Given the description of an element on the screen output the (x, y) to click on. 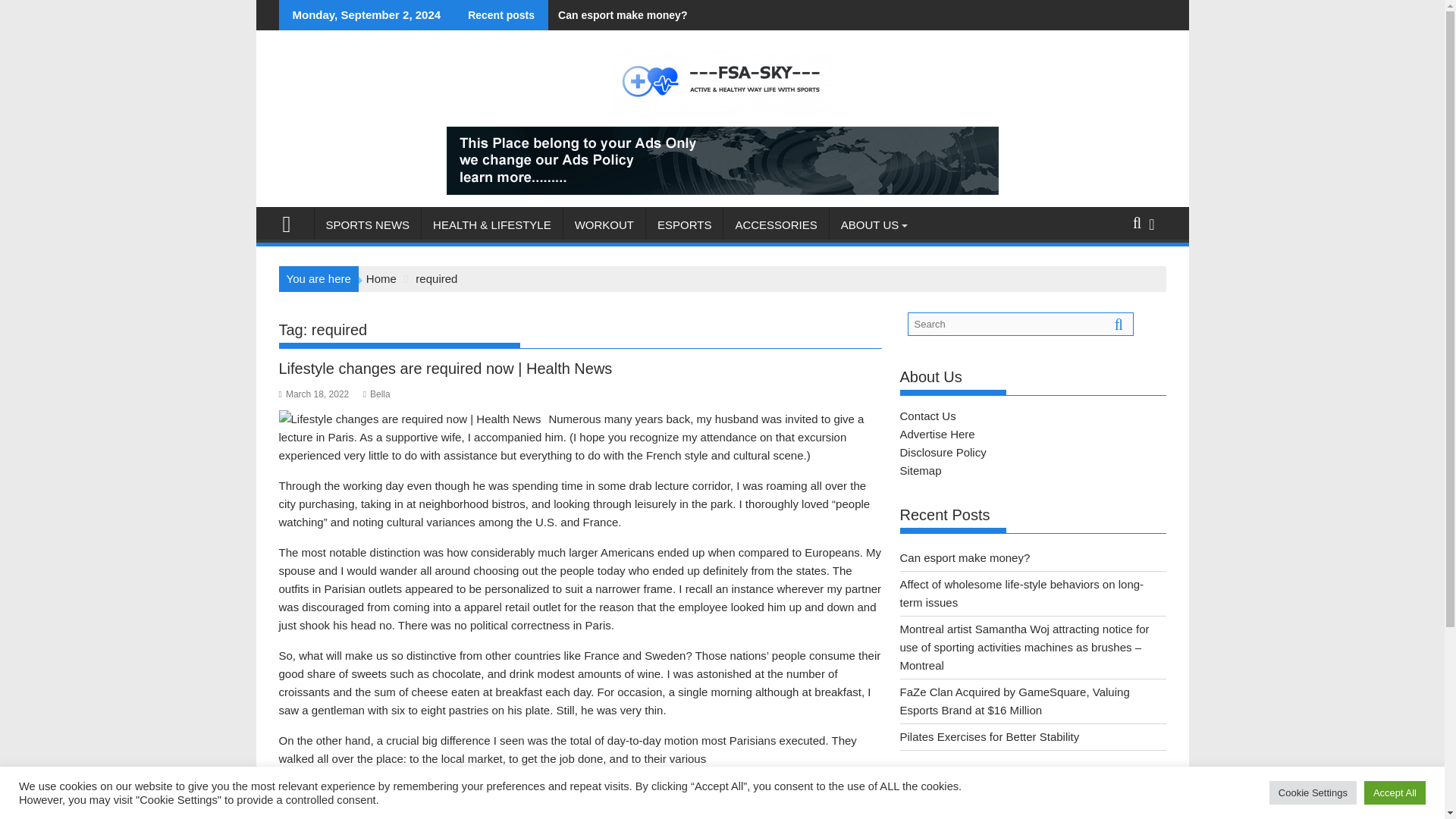
SPORTS NEWS (367, 225)
ESPORTS (684, 225)
ABOUT US (869, 225)
Bella (376, 394)
READ MORE (331, 792)
WORKOUT (604, 225)
Can esport make money? (617, 15)
Can esport make money? (617, 15)
ACCESSORIES (775, 225)
FSA-SKY (293, 222)
